Given the description of an element on the screen output the (x, y) to click on. 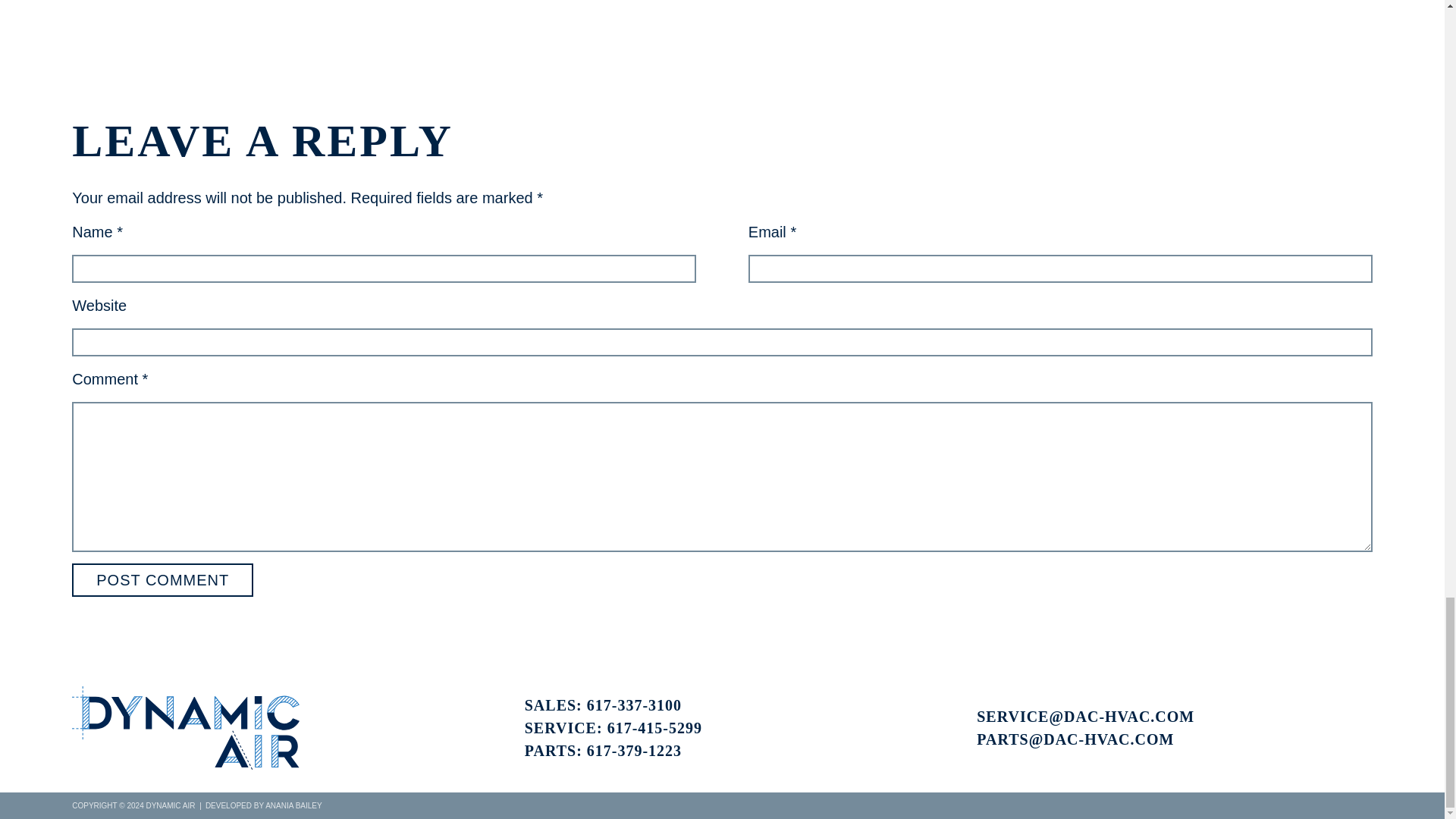
617-337-3100 (633, 704)
617-415-5299 (654, 727)
617-379-1223 (633, 750)
Post Comment (162, 580)
ANANIA BAILEY (292, 805)
Post Comment (162, 580)
